Given the description of an element on the screen output the (x, y) to click on. 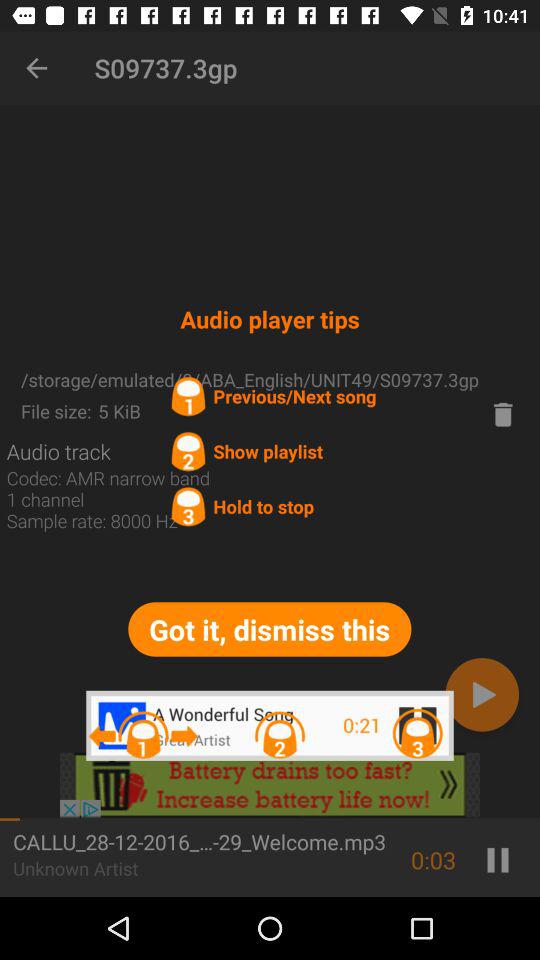
turn on app to the left of s09737.3gp (36, 68)
